Given the description of an element on the screen output the (x, y) to click on. 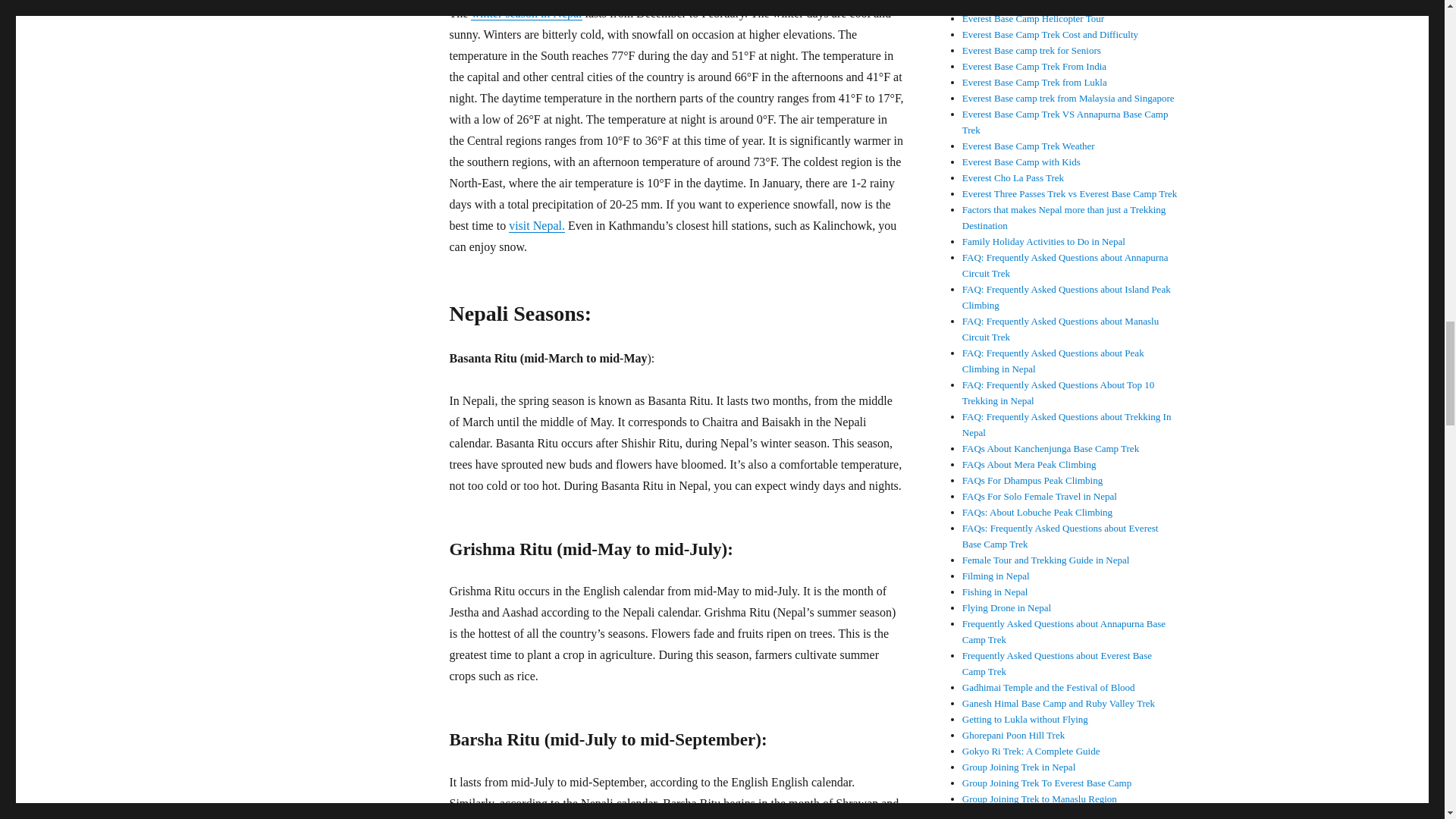
visit Nepal. (536, 225)
winter season in Nepal (525, 12)
